Given the description of an element on the screen output the (x, y) to click on. 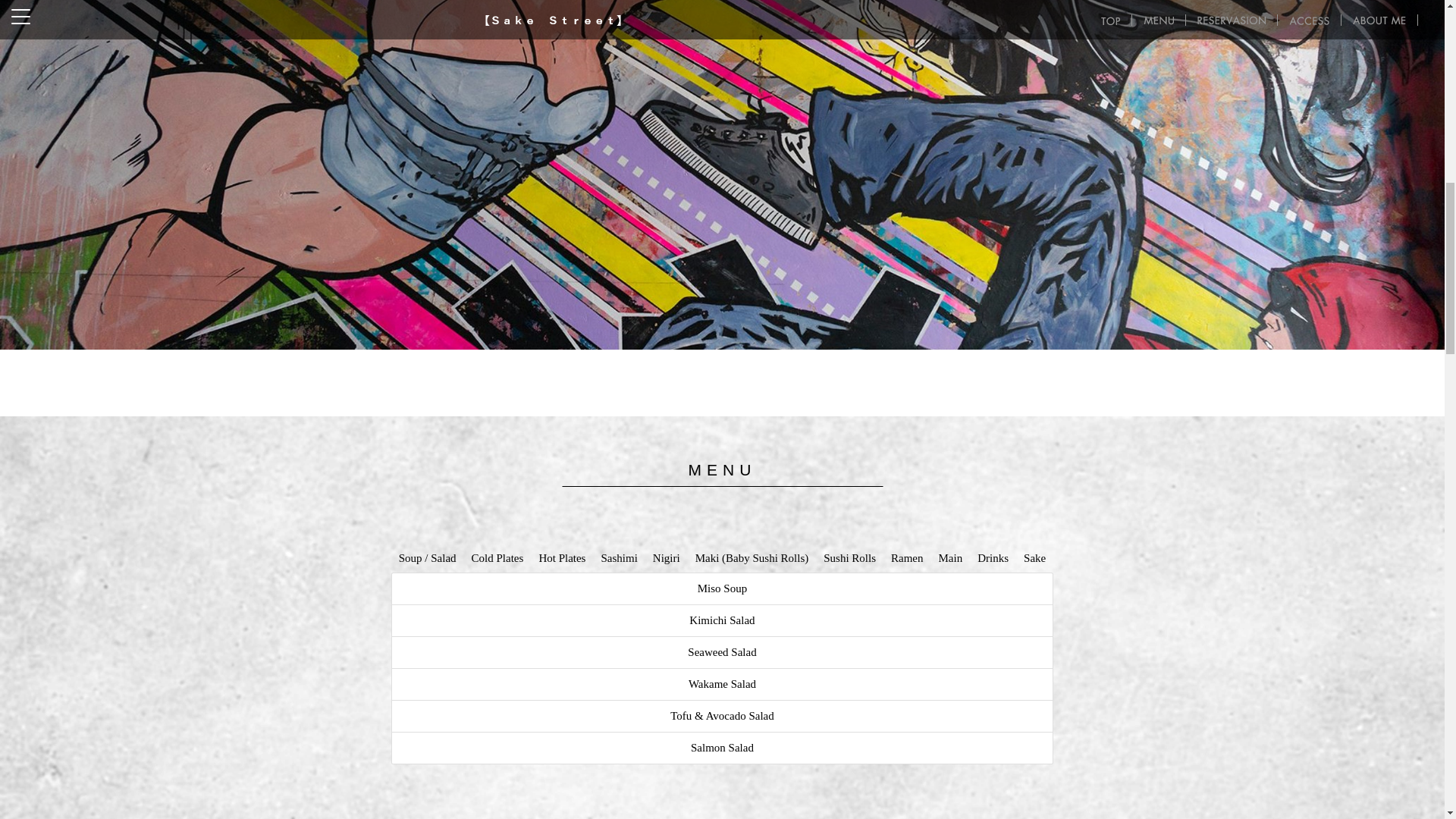
Sashimi (618, 558)
Shiso Dressing (721, 684)
Drinks (992, 558)
Sake (1034, 558)
with Avaocado and cheese (721, 748)
Nigiri (666, 558)
Cold Plates (497, 558)
Sushi Rolls (849, 558)
Hot Plates (561, 558)
Sesame Dressing (721, 716)
